Given the description of an element on the screen output the (x, y) to click on. 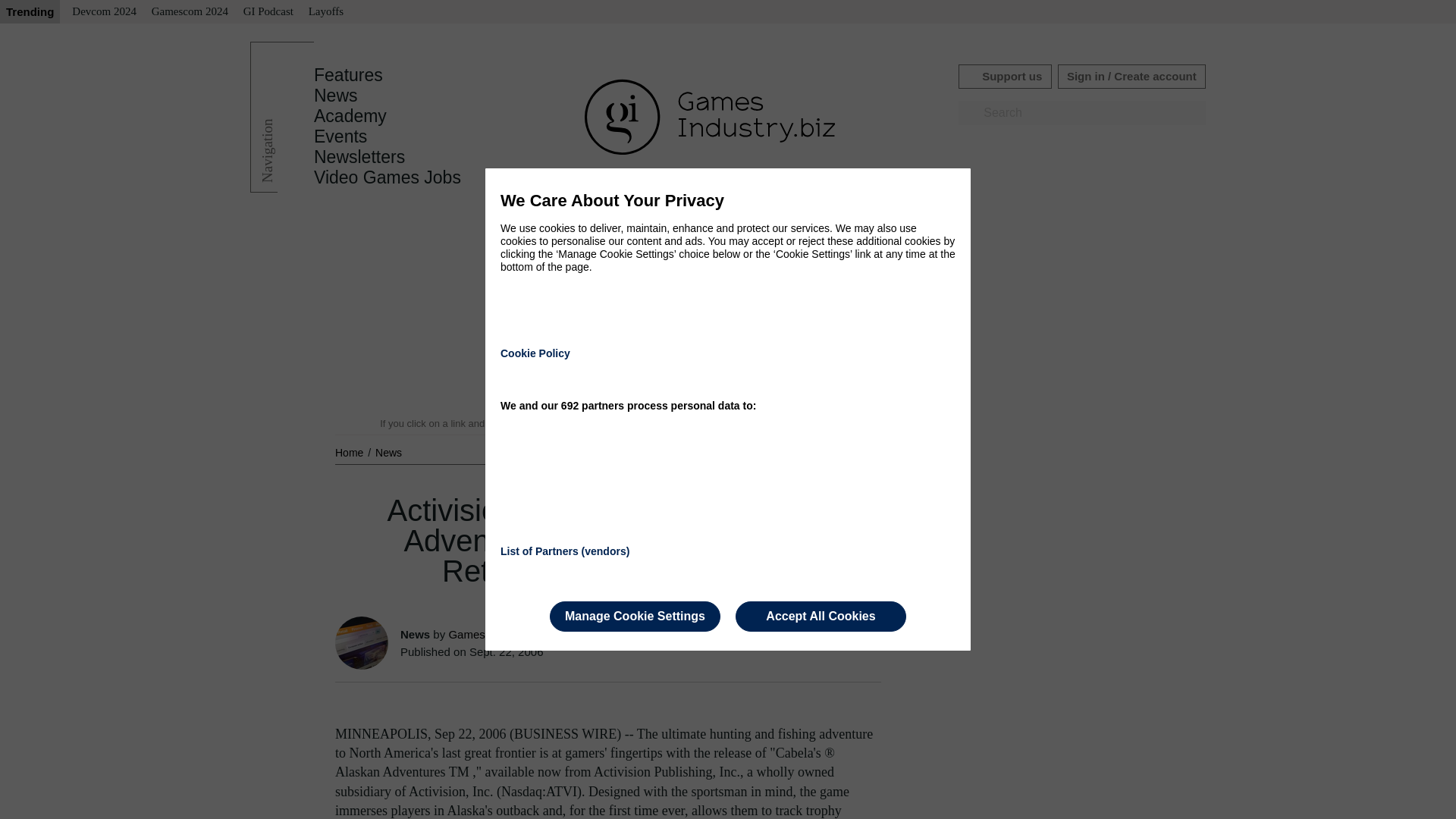
Gamescom 2024 (189, 11)
GamesIndustry.biz (494, 634)
Features (348, 75)
Support us (1004, 75)
Newsletters (359, 157)
Video Games Jobs (387, 177)
GI Podcast (268, 11)
News (336, 95)
Events (340, 136)
Home (350, 452)
